Given the description of an element on the screen output the (x, y) to click on. 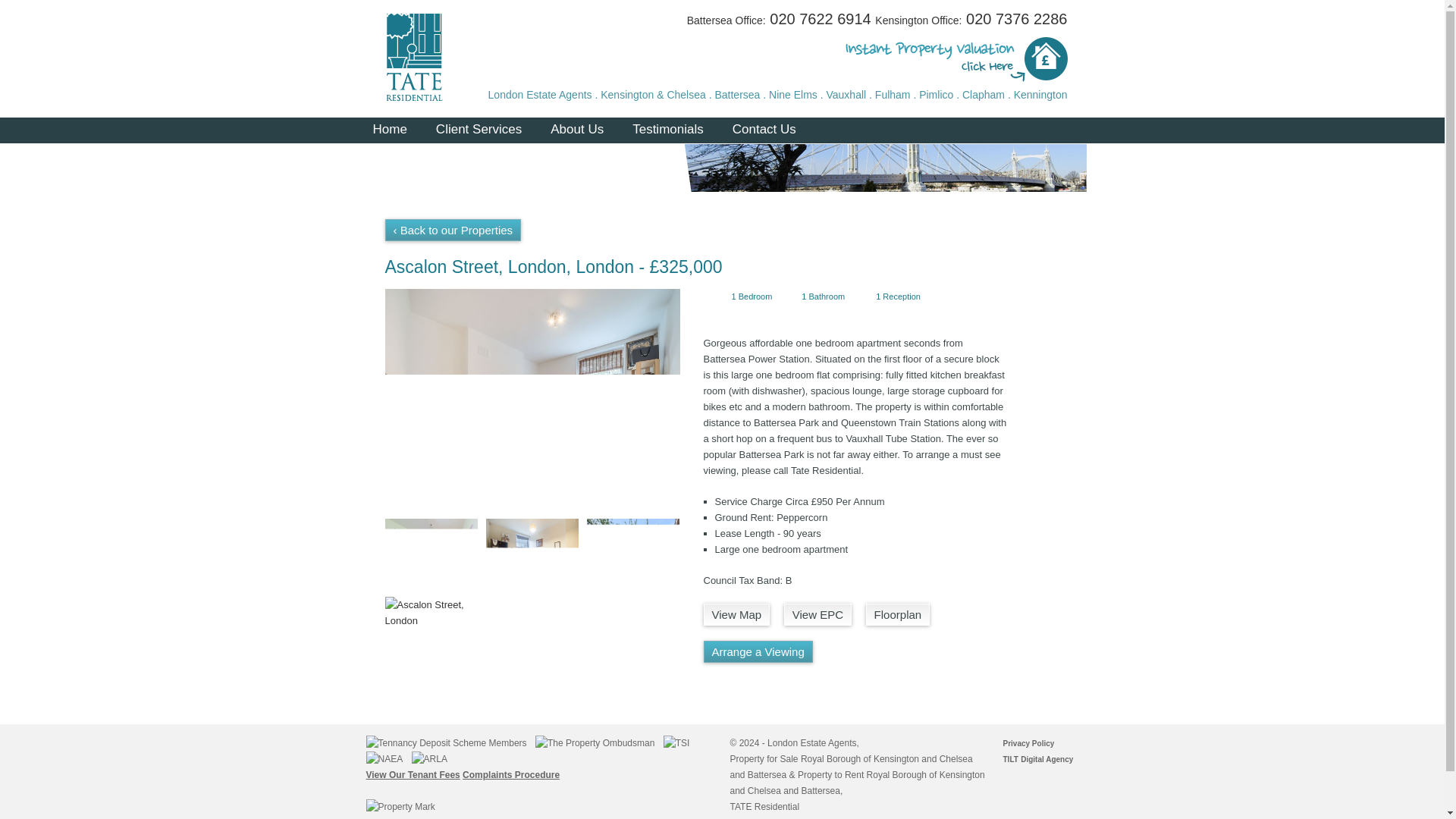
Digital Agency (1046, 759)
View EPC (817, 614)
Buy (406, 166)
Rent (502, 166)
About Us (576, 130)
View Our Tenant Fees (412, 774)
Contact Us (763, 130)
Privacy Policy (1028, 743)
Complaints Procedure (511, 774)
